Given the description of an element on the screen output the (x, y) to click on. 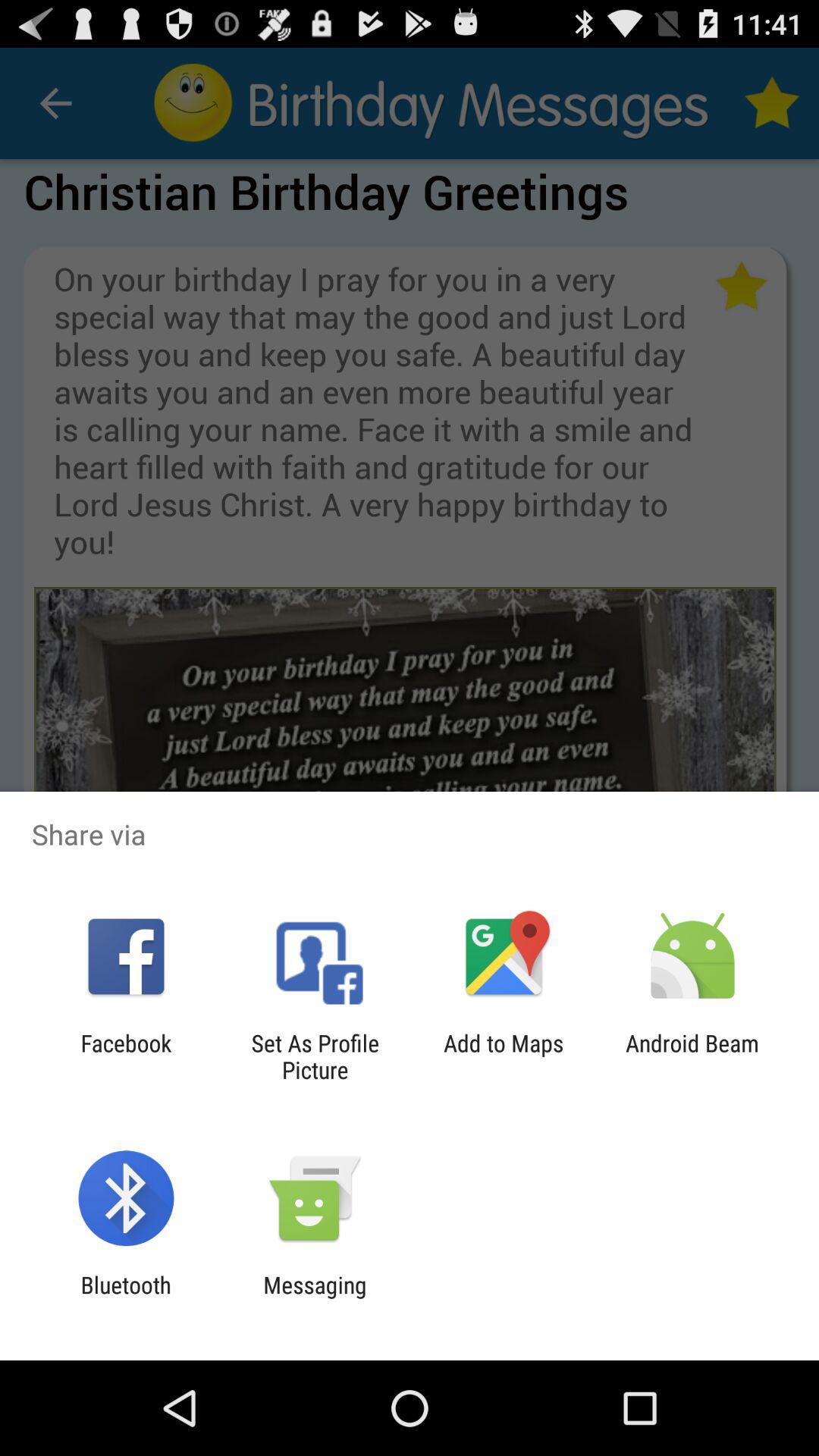
turn off the item next to bluetooth (314, 1298)
